Given the description of an element on the screen output the (x, y) to click on. 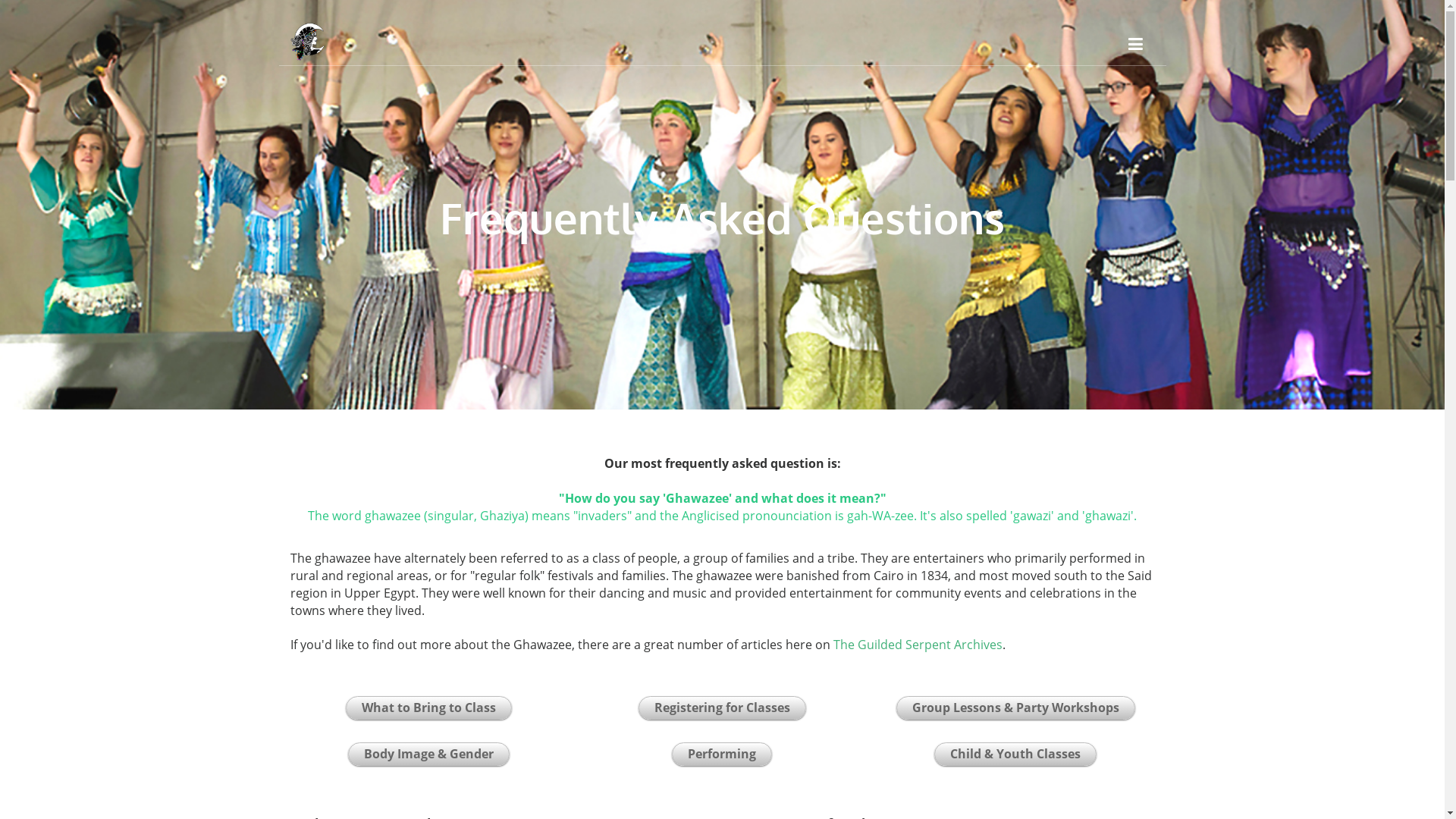
Child & Youth Classes Element type: text (1015, 753)
The Guilded Serpent Archives Element type: text (916, 644)
Registering for Classes Element type: text (722, 707)
Body Image & Gender Element type: text (428, 753)
What to Bring to Class Element type: text (428, 707)
Group Lessons & Party Workshops Element type: text (1015, 707)
Performing Element type: text (721, 753)
